Given the description of an element on the screen output the (x, y) to click on. 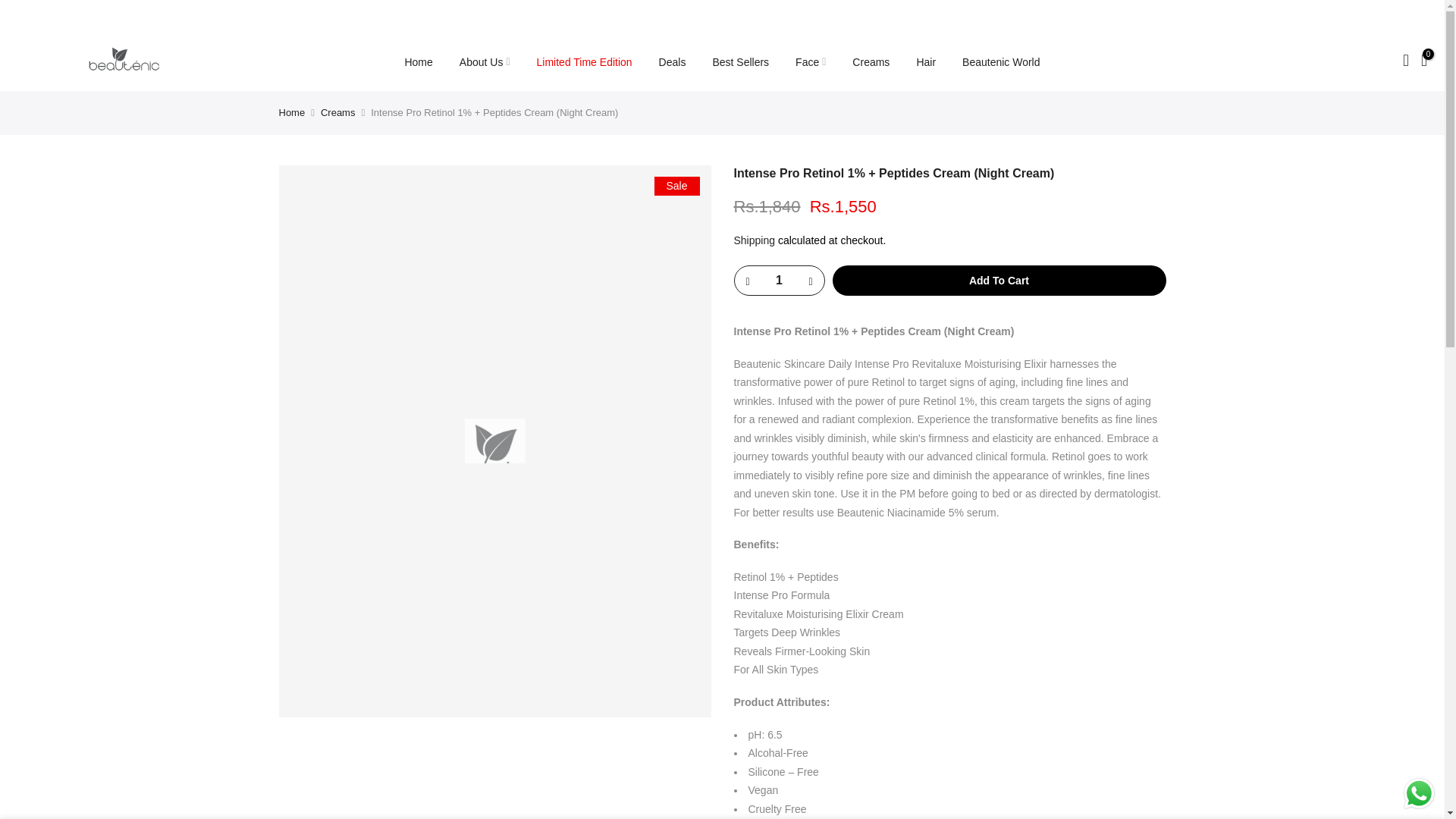
Creams (337, 112)
Hair (925, 62)
Home (292, 112)
Home (418, 62)
Beautenic World (1000, 62)
Limited Time Edition (583, 62)
About Us (483, 62)
Shipping (754, 240)
Best Sellers (740, 62)
1 (778, 280)
